Given the description of an element on the screen output the (x, y) to click on. 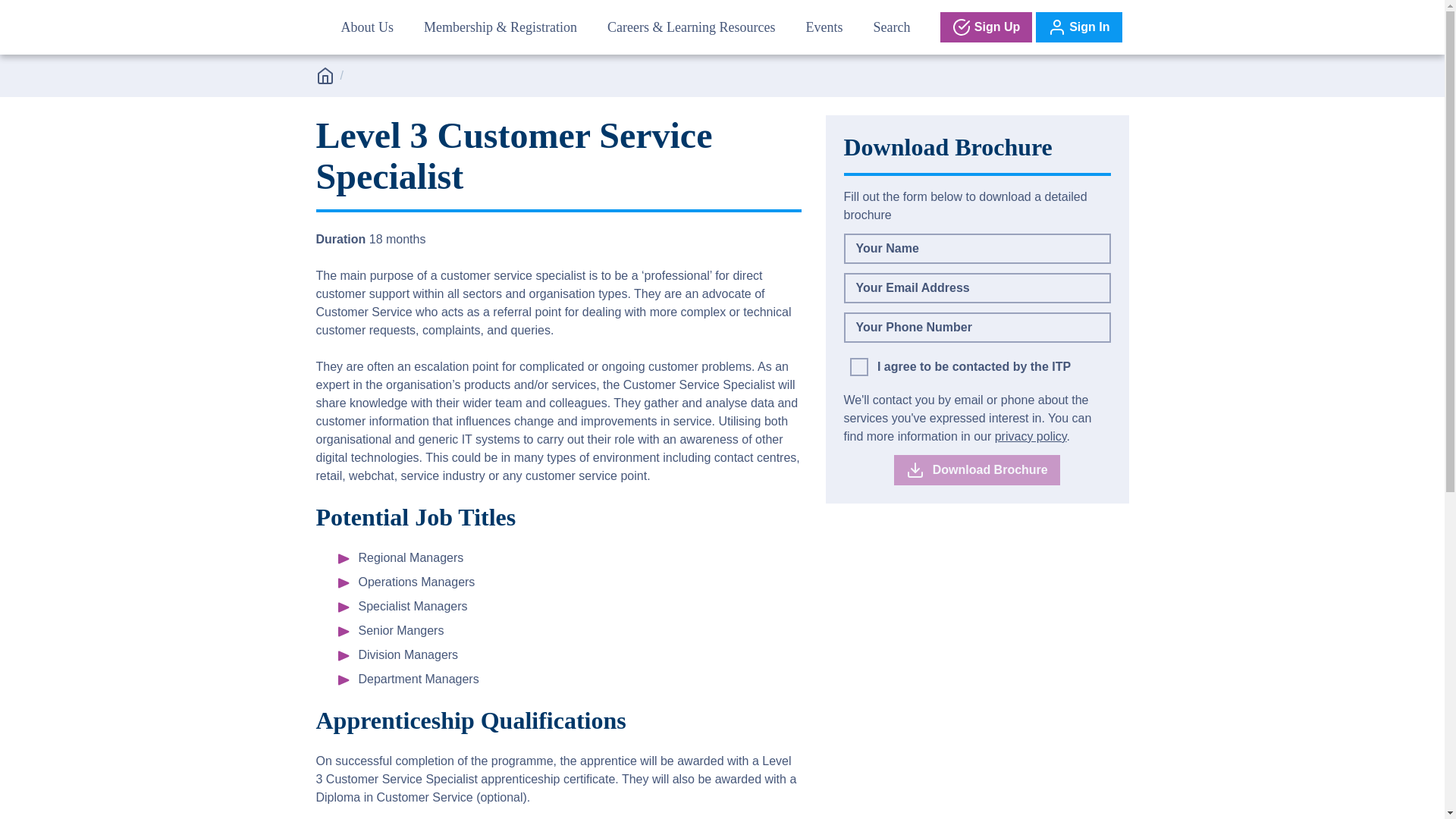
Sign In (1078, 27)
About Us (367, 27)
privacy policy (1030, 436)
Download Brochure (976, 470)
Events (823, 27)
Skip to content (11, 11)
Sign Up (986, 27)
Search (890, 27)
